Given the description of an element on the screen output the (x, y) to click on. 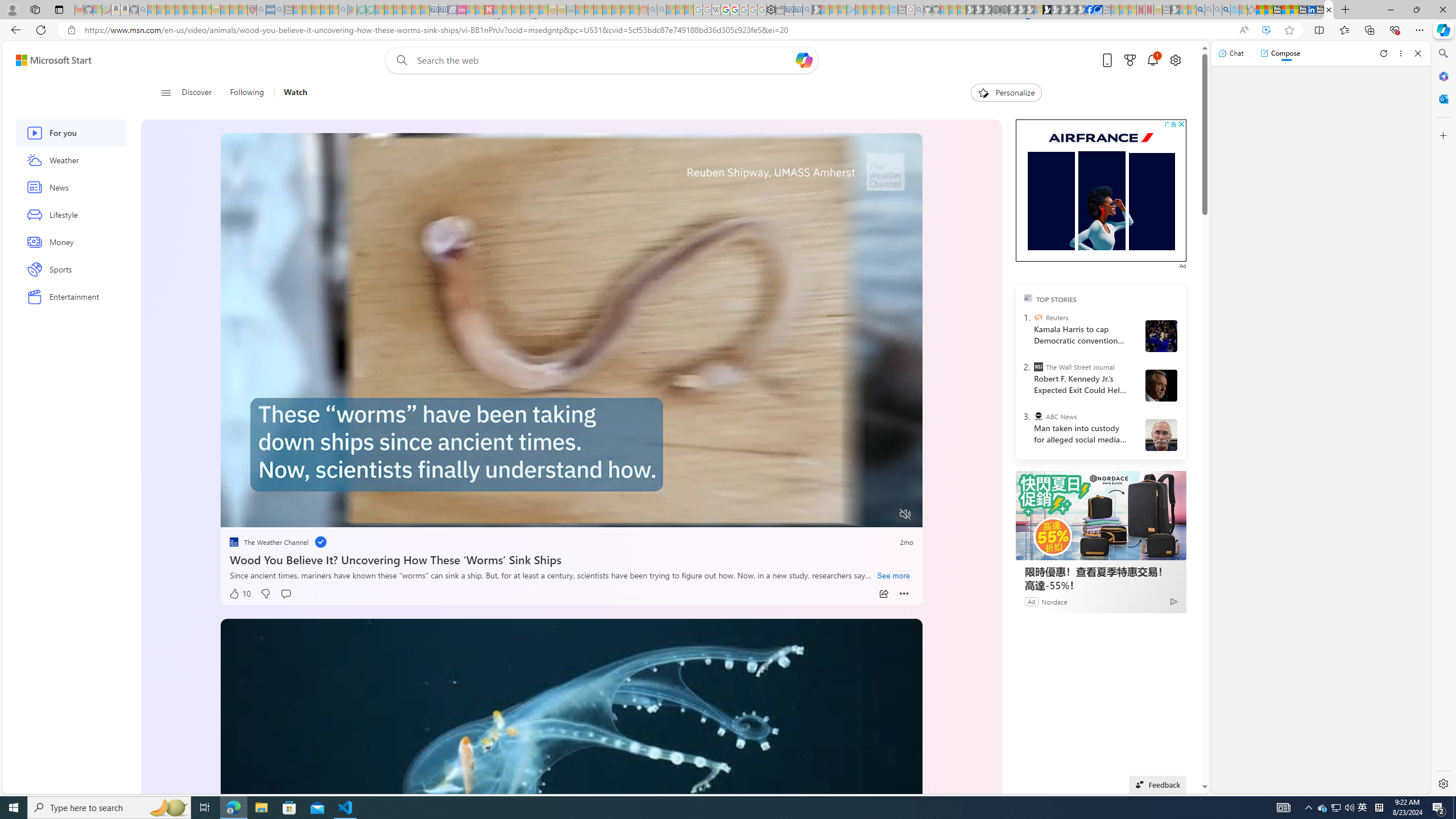
Close Customize pane (1442, 135)
LinkedIn (1311, 9)
Reuters (1037, 316)
github - Search - Sleeping (919, 9)
Utah sues federal government - Search - Sleeping (661, 9)
Class: at-item inline-watch (903, 593)
